Given the description of an element on the screen output the (x, y) to click on. 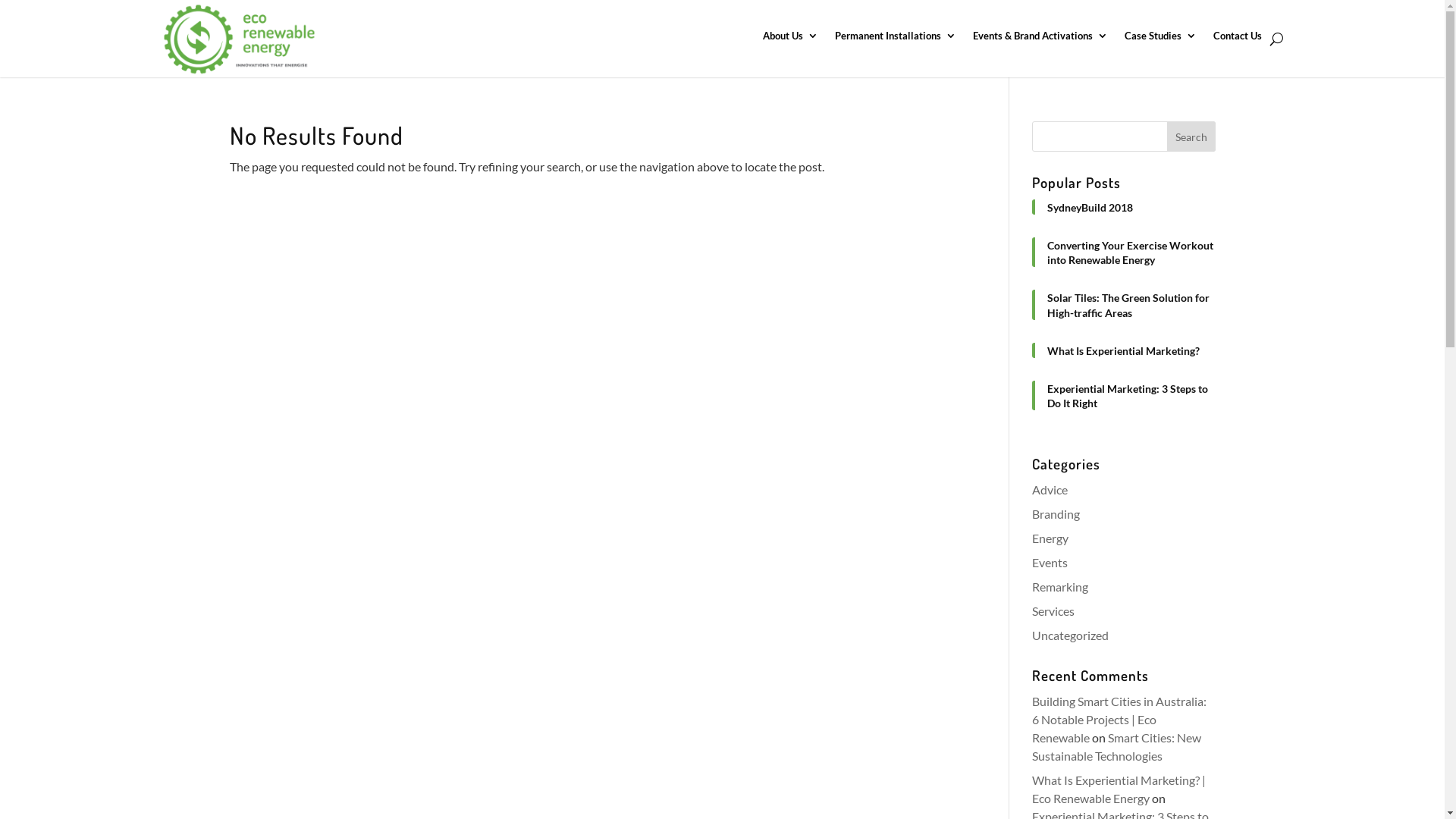
Experiential Marketing: 3 Steps to Do It Right Element type: text (1130, 395)
What Is Experiential Marketing? Element type: text (1130, 349)
Case Studies Element type: text (1159, 38)
Services Element type: text (1053, 610)
Contact Us Element type: text (1237, 38)
Converting Your Exercise Workout into Renewable Energy Element type: text (1130, 252)
Permanent Installations Element type: text (894, 38)
Uncategorized Element type: text (1070, 634)
Remarking Element type: text (1060, 586)
Energy Element type: text (1050, 537)
About Us Element type: text (790, 38)
SydneyBuild 2018 Element type: text (1130, 206)
ERE-logo-2020 Element type: hover (238, 38)
Smart Cities: New Sustainable Technologies Element type: text (1116, 746)
Branding Element type: text (1055, 513)
What Is Experiential Marketing? | Eco Renewable Energy Element type: text (1118, 788)
Advice Element type: text (1049, 489)
Solar Tiles: The Green Solution for High-traffic Areas Element type: text (1130, 304)
Events & Brand Activations Element type: text (1039, 38)
Search Element type: text (1191, 136)
Events Element type: text (1049, 562)
